Given the description of an element on the screen output the (x, y) to click on. 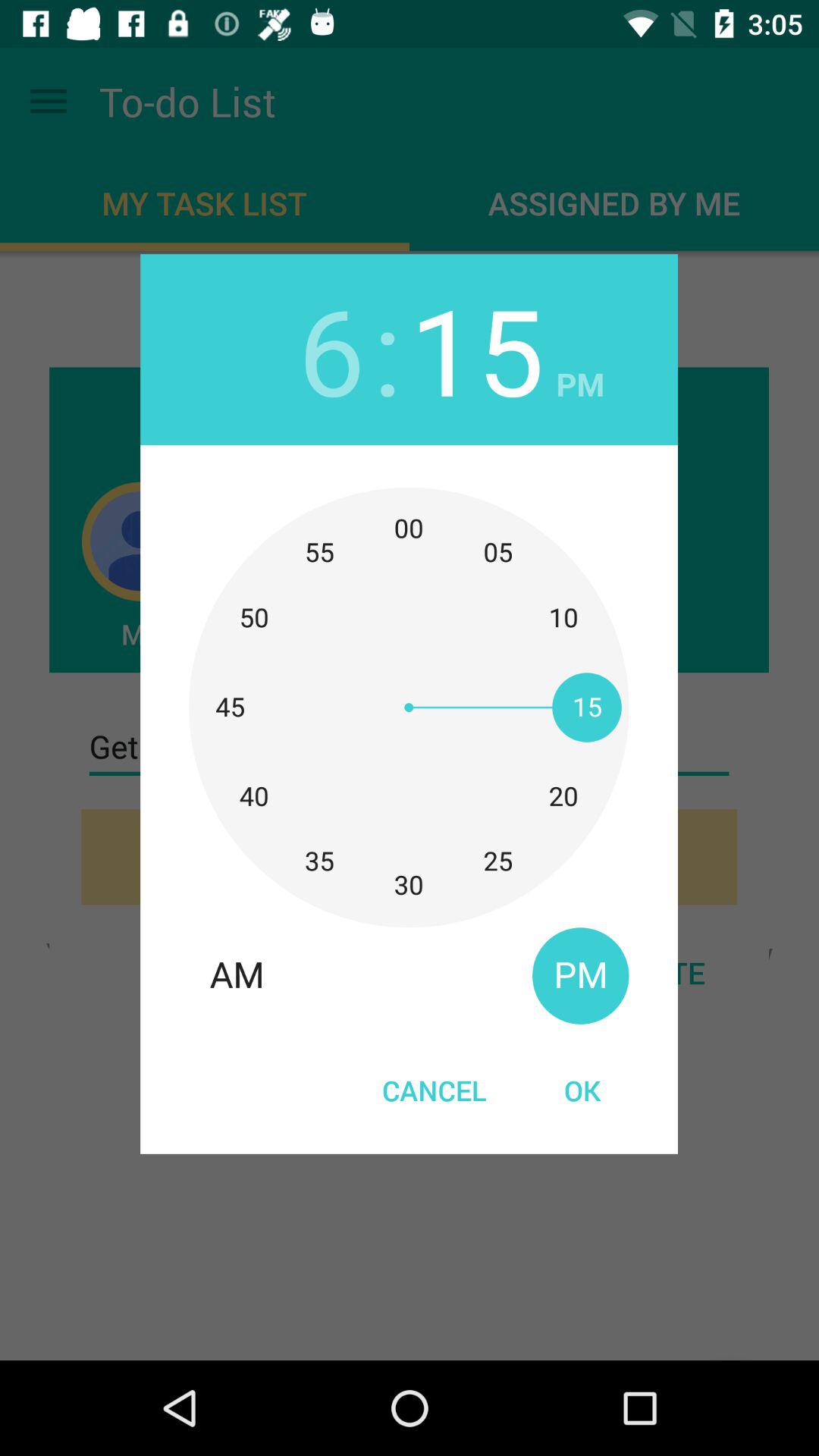
launch the item to the left of the ok item (434, 1090)
